Given the description of an element on the screen output the (x, y) to click on. 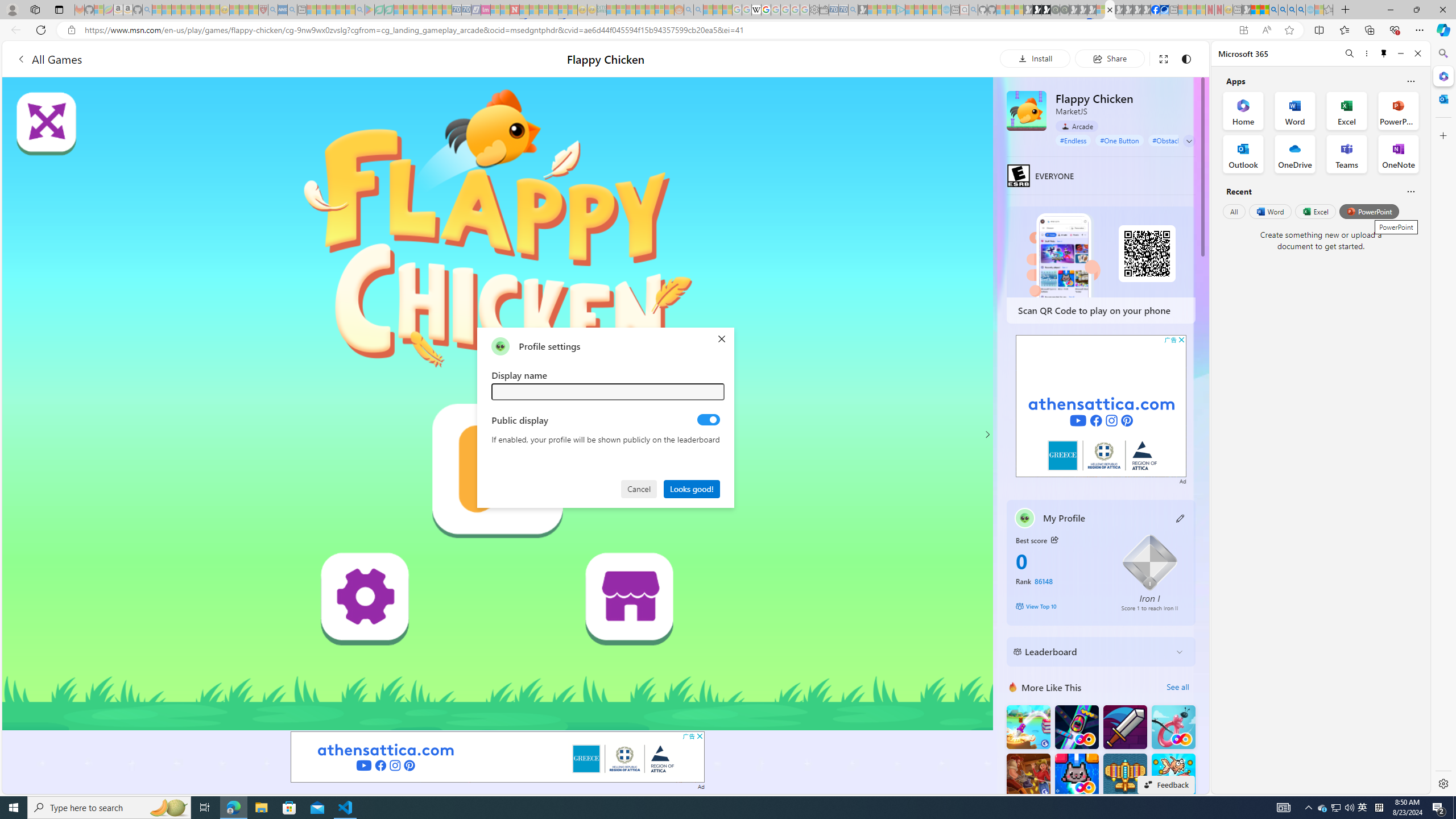
Settings - Sleeping (814, 9)
Expert Portfolios - Sleeping (639, 9)
Word (1269, 210)
Latest Politics News & Archive | Newsweek.com - Sleeping (514, 9)
Outlook Office App (1243, 154)
EVERYONE (1018, 175)
Nordace | Facebook (1154, 9)
Kinda Frugal - MSN - Sleeping (649, 9)
OneDrive Office App (1295, 154)
